Given the description of an element on the screen output the (x, y) to click on. 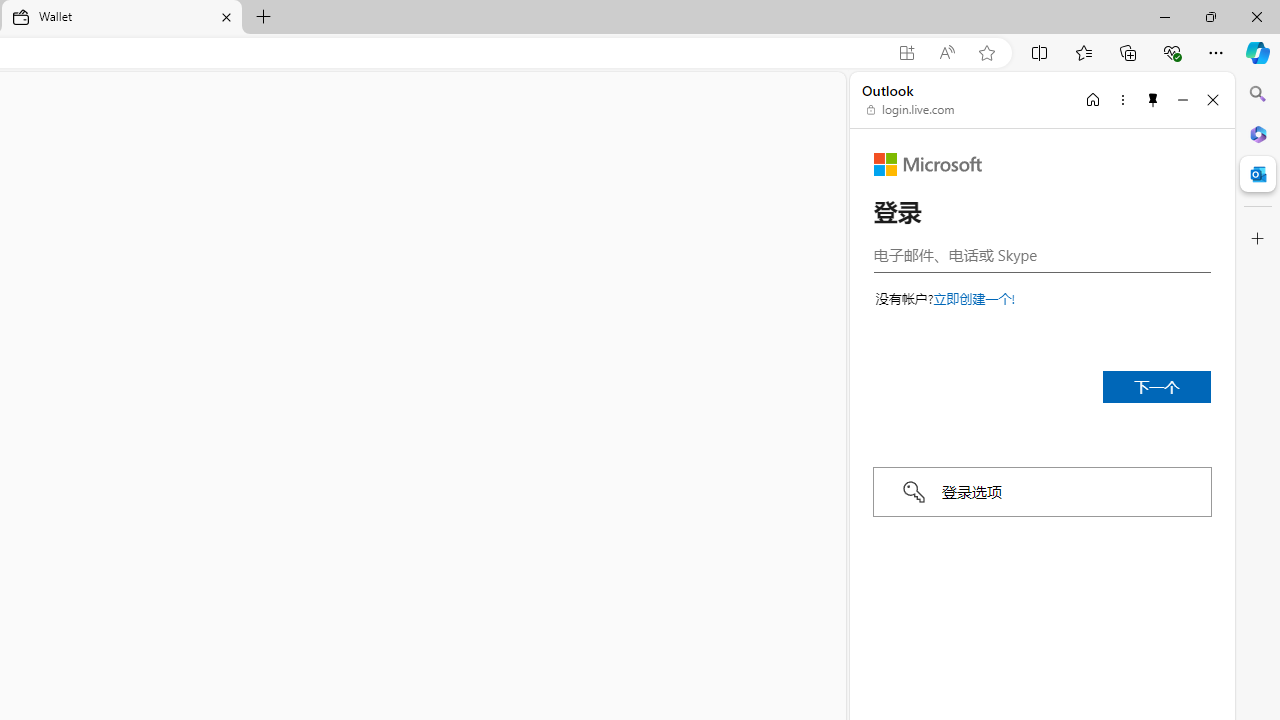
Unpin side pane (1153, 99)
